Given the description of an element on the screen output the (x, y) to click on. 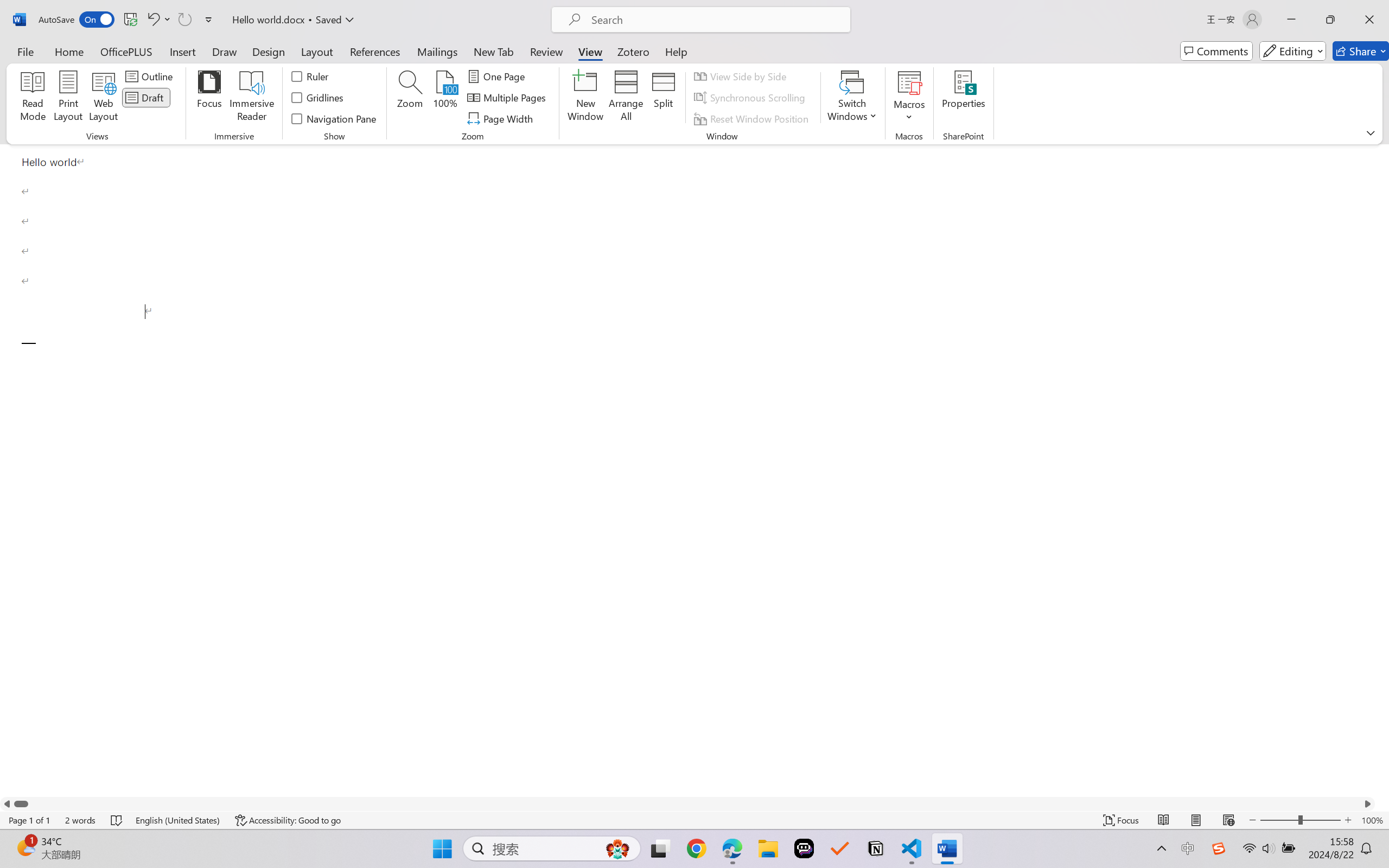
OfficePLUS (126, 51)
Language English (United States) (178, 819)
Navigation Pane (334, 118)
View Side by Side (741, 75)
AutomationID: DynamicSearchBoxGleamImage (617, 848)
Home (69, 51)
Web Layout (1228, 819)
Ribbon Display Options (1370, 132)
Editing (1292, 50)
View (589, 51)
Page Width (501, 118)
Properties (963, 97)
Synchronous Scrolling (751, 97)
